Given the description of an element on the screen output the (x, y) to click on. 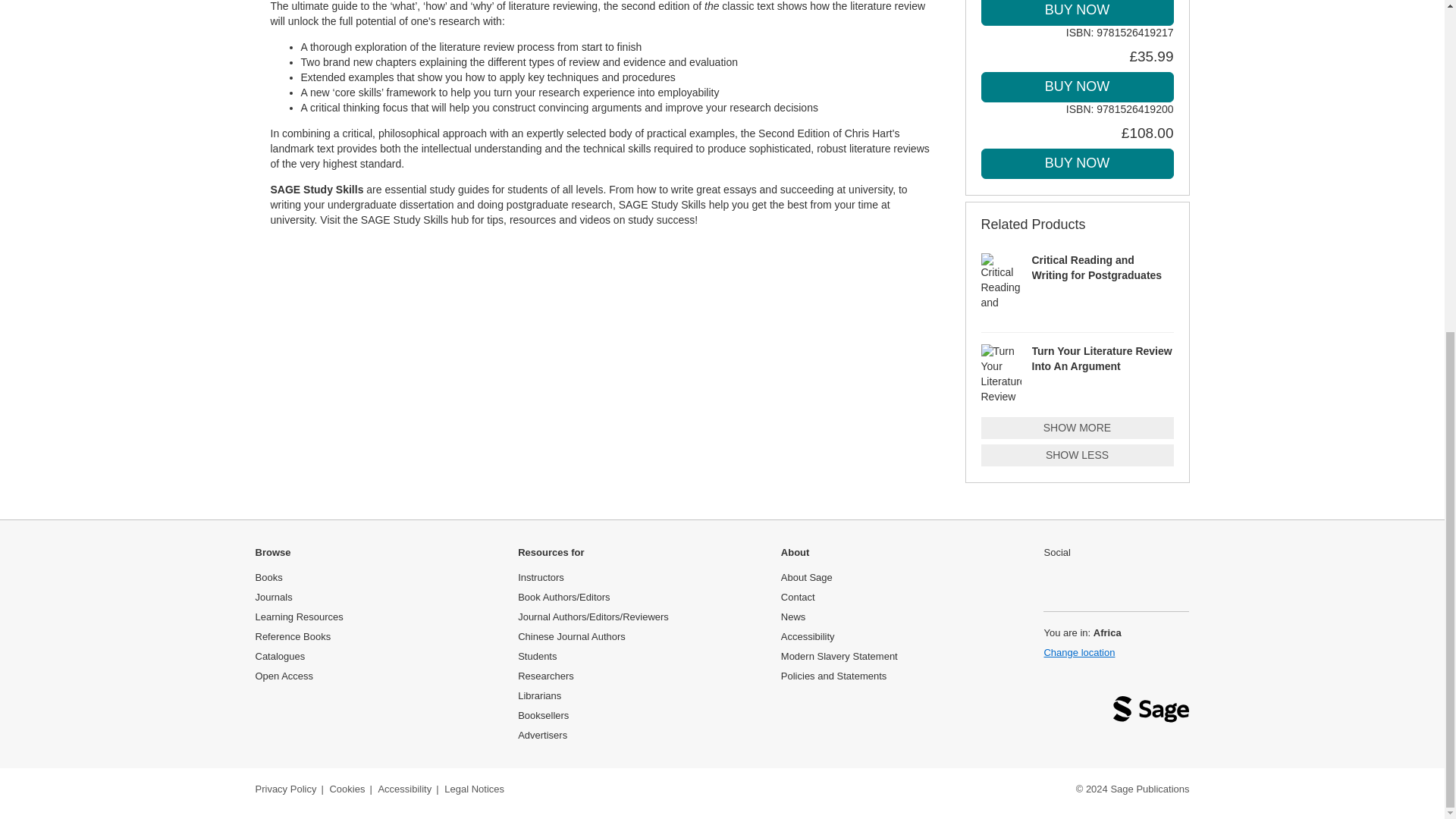
Buy now (1077, 12)
Buy now (1077, 87)
Sage logo: link back to homepage (1151, 712)
Catalogues (279, 655)
Buy now (1077, 163)
